Given the description of an element on the screen output the (x, y) to click on. 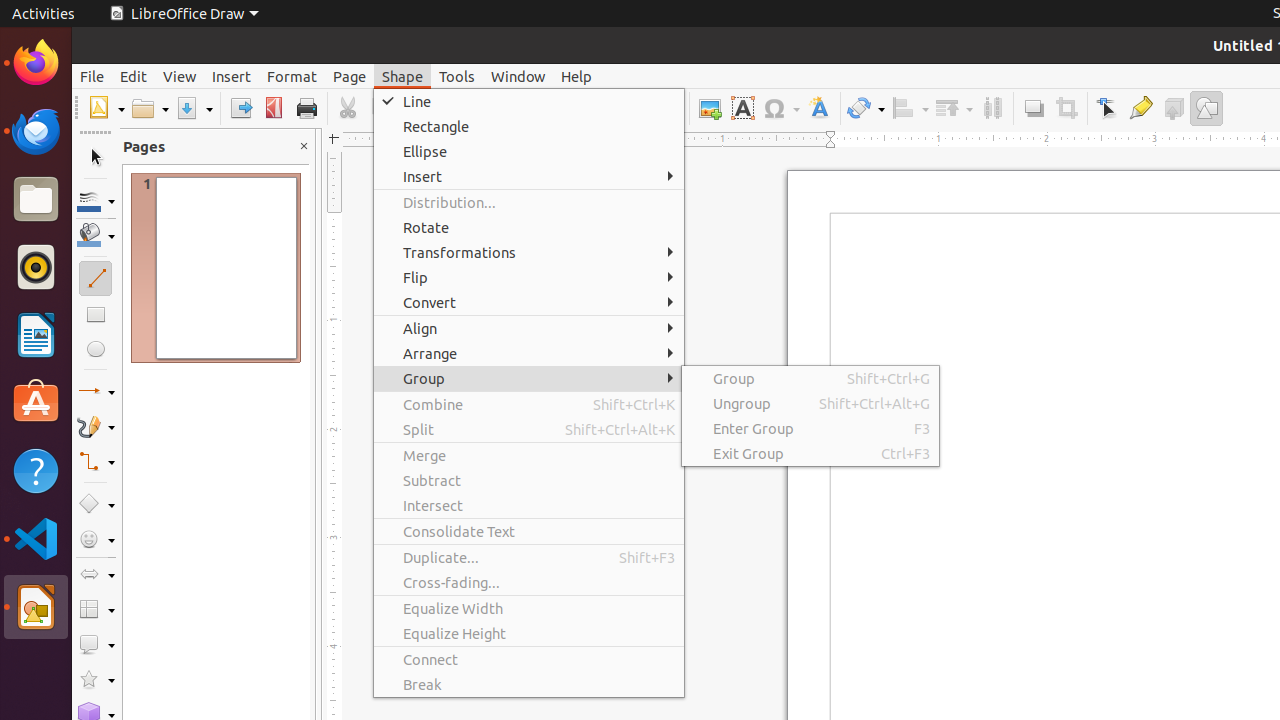
Shadow Element type: toggle-button (1033, 108)
Cut Element type: push-button (347, 108)
Grid Element type: toggle-button (602, 108)
Break Element type: menu-item (529, 684)
Split Element type: menu-item (529, 429)
